Given the description of an element on the screen output the (x, y) to click on. 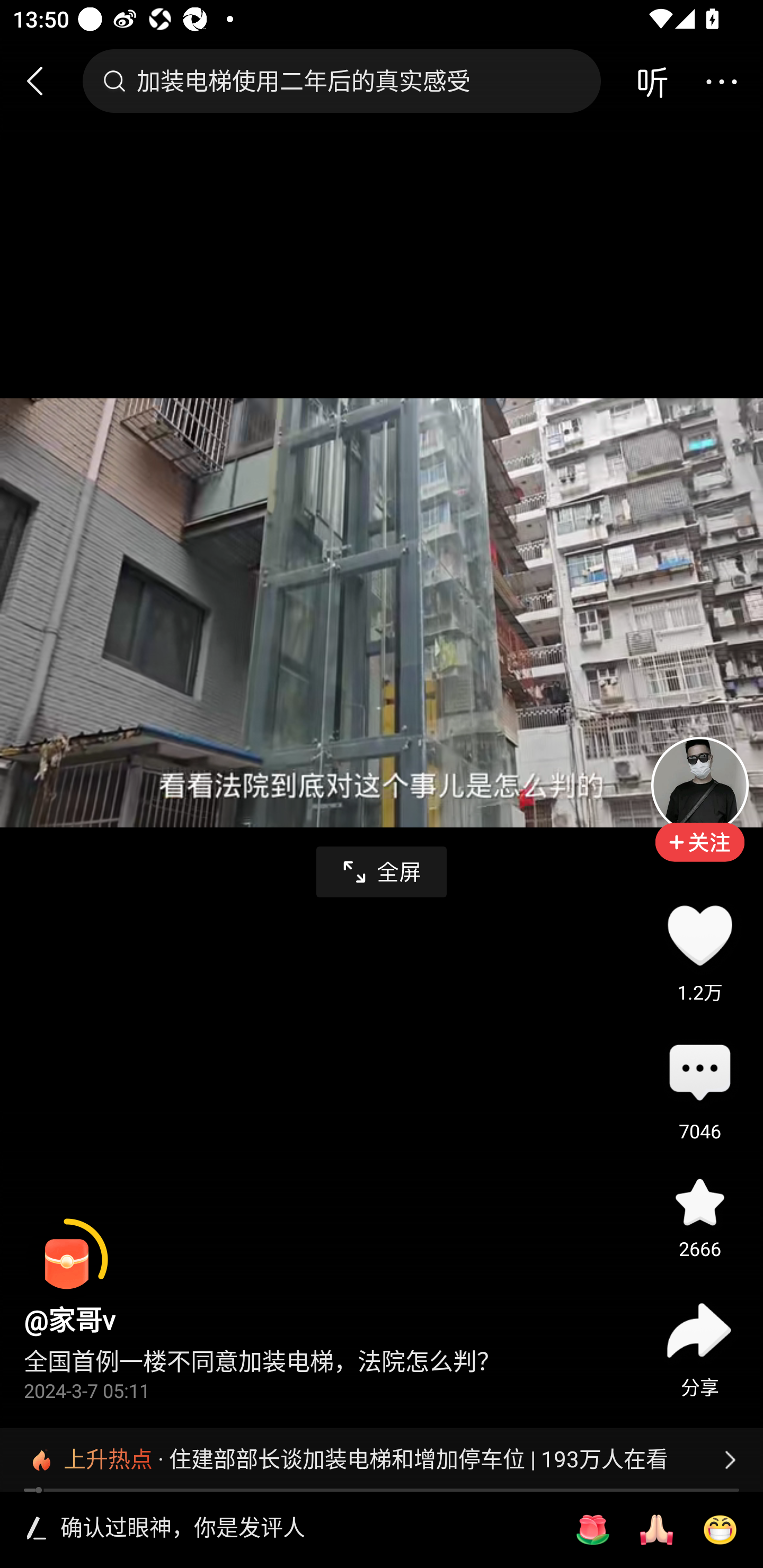
加装电梯使用二年后的真实感受 搜索框，加装电梯使用二年后的真实感受 (341, 80)
返回 (43, 80)
音频 (651, 80)
更多操作 (720, 80)
头像 (699, 785)
全屏播放 (381, 871)
点赞12026 1.2万 (699, 935)
评论7046 评论 7046 (699, 1074)
收藏 2666 (699, 1201)
阅读赚金币 (66, 1259)
分享 (699, 1330)
@家哥v (69, 1319)
上升热点  · 住建部部长谈加装电梯和增加停车位  | 193万人在看 (381, 1459)
确认过眼神，你是发评人 (305, 1529)
[玫瑰] (592, 1530)
[祈祷] (656, 1530)
[呲牙] (719, 1530)
